Given the description of an element on the screen output the (x, y) to click on. 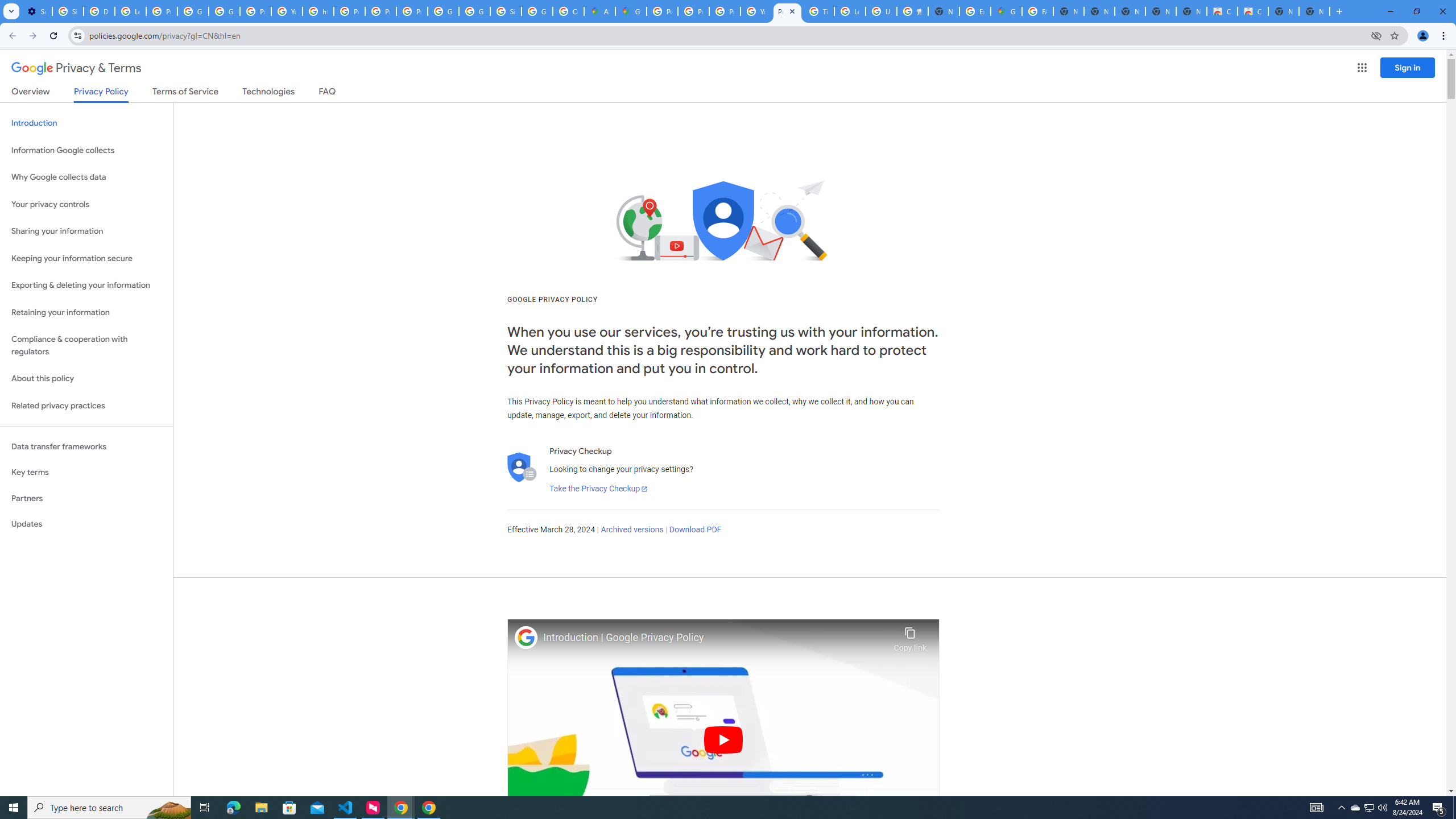
Google Account Help (192, 11)
Classic Blue - Chrome Web Store (1222, 11)
Google Maps (631, 11)
